Given the description of an element on the screen output the (x, y) to click on. 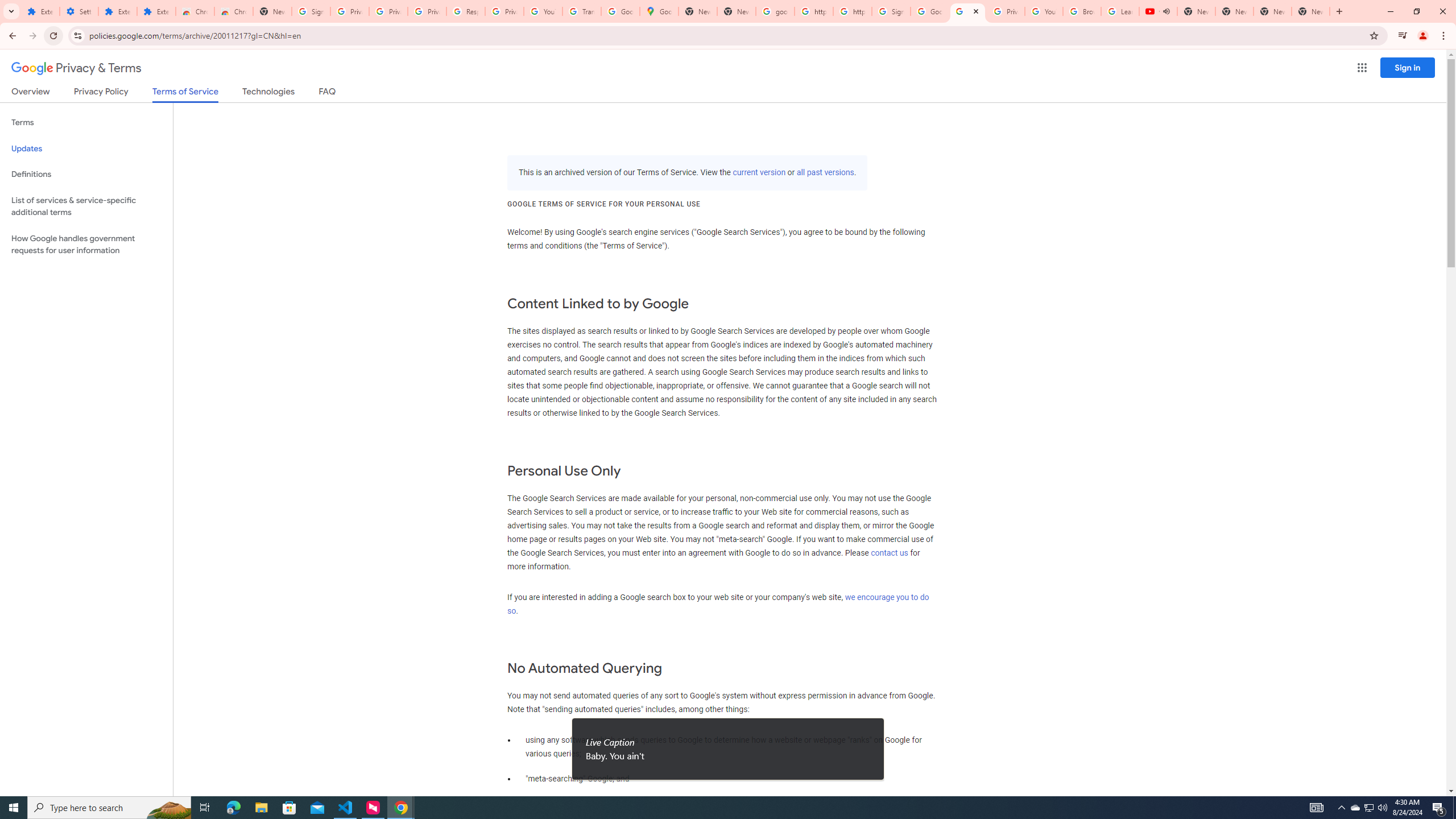
Sign in - Google Accounts (890, 11)
